Given the description of an element on the screen output the (x, y) to click on. 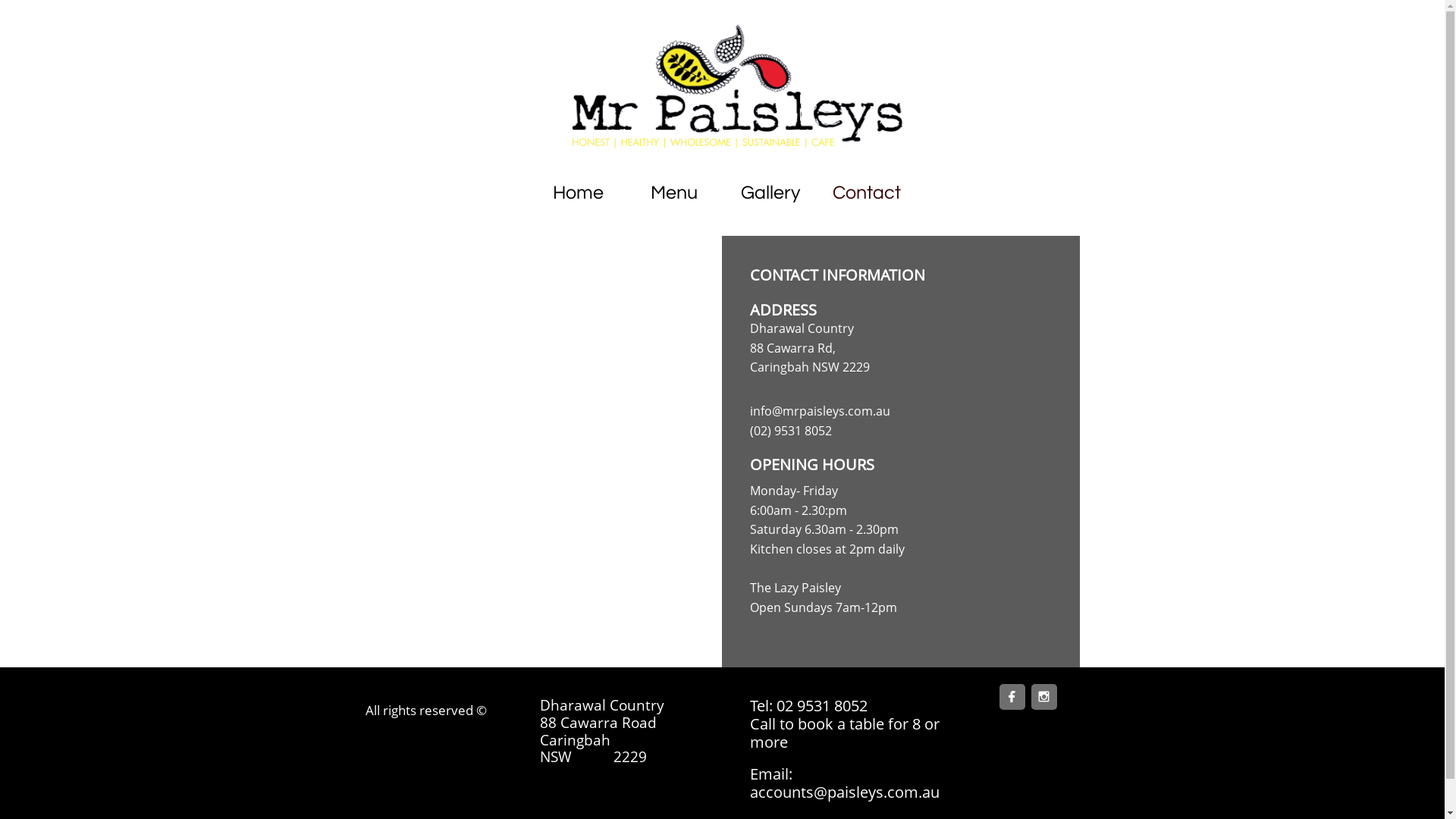
Gallery Element type: text (770, 192)
Home Element type: text (577, 192)
Contact Element type: text (866, 192)
Menu Element type: text (673, 192)
